Given the description of an element on the screen output the (x, y) to click on. 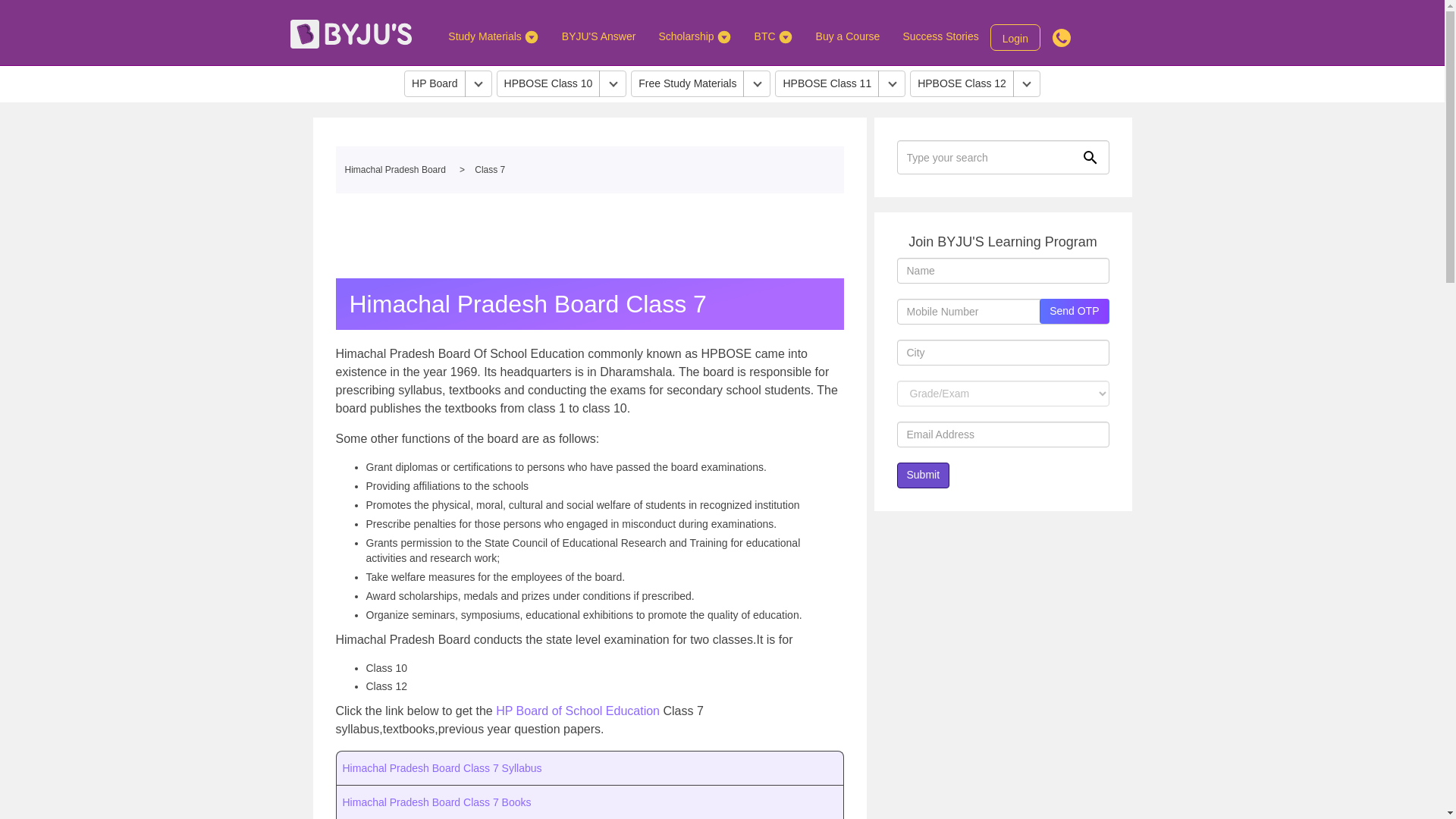
Study Materials (493, 35)
Himachal Pradesh BoardClass 7 (588, 169)
